Given the description of an element on the screen output the (x, y) to click on. 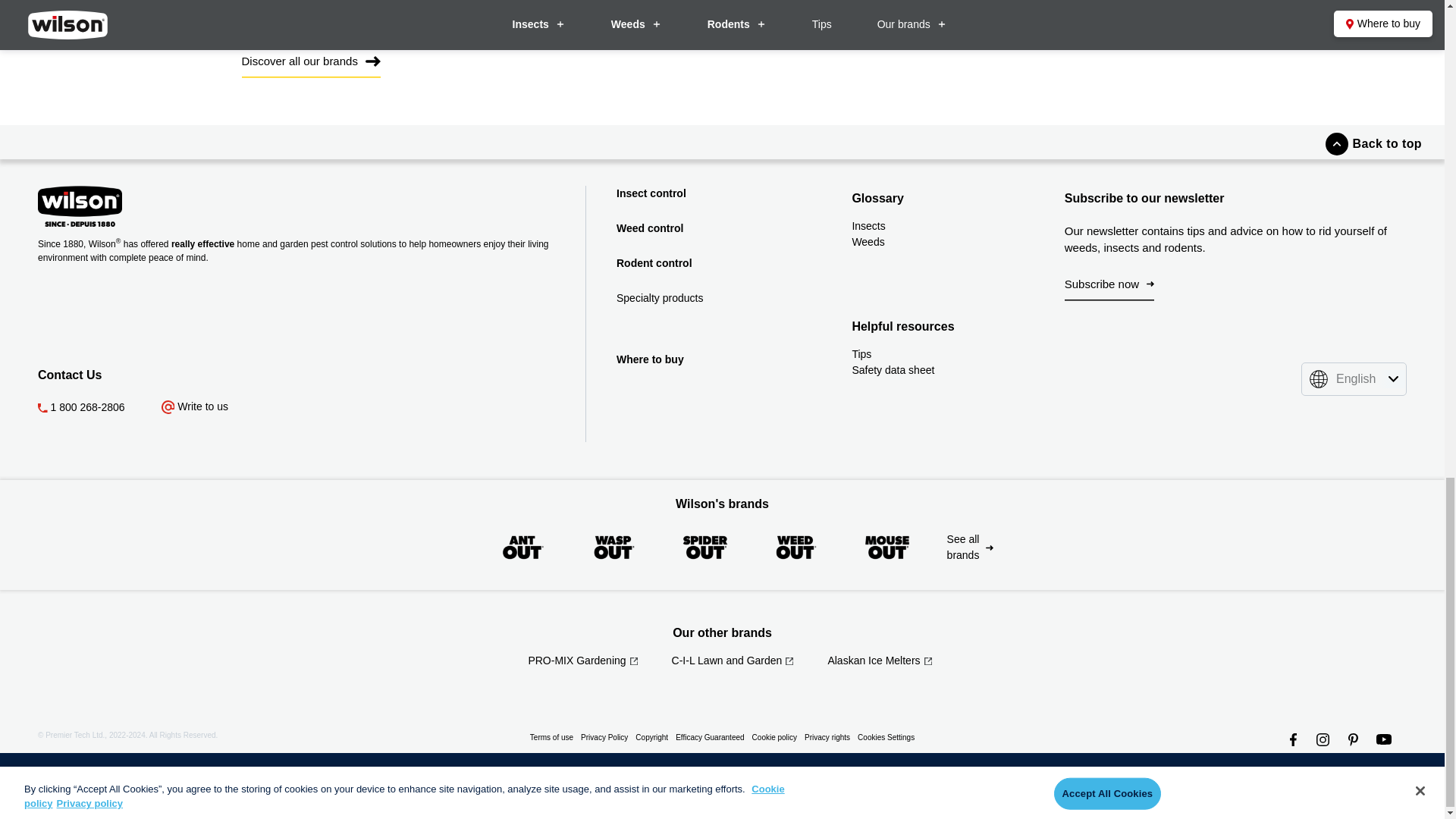
Wilson black logo  (164, 205)
Wilson black logo  (79, 205)
